Given the description of an element on the screen output the (x, y) to click on. 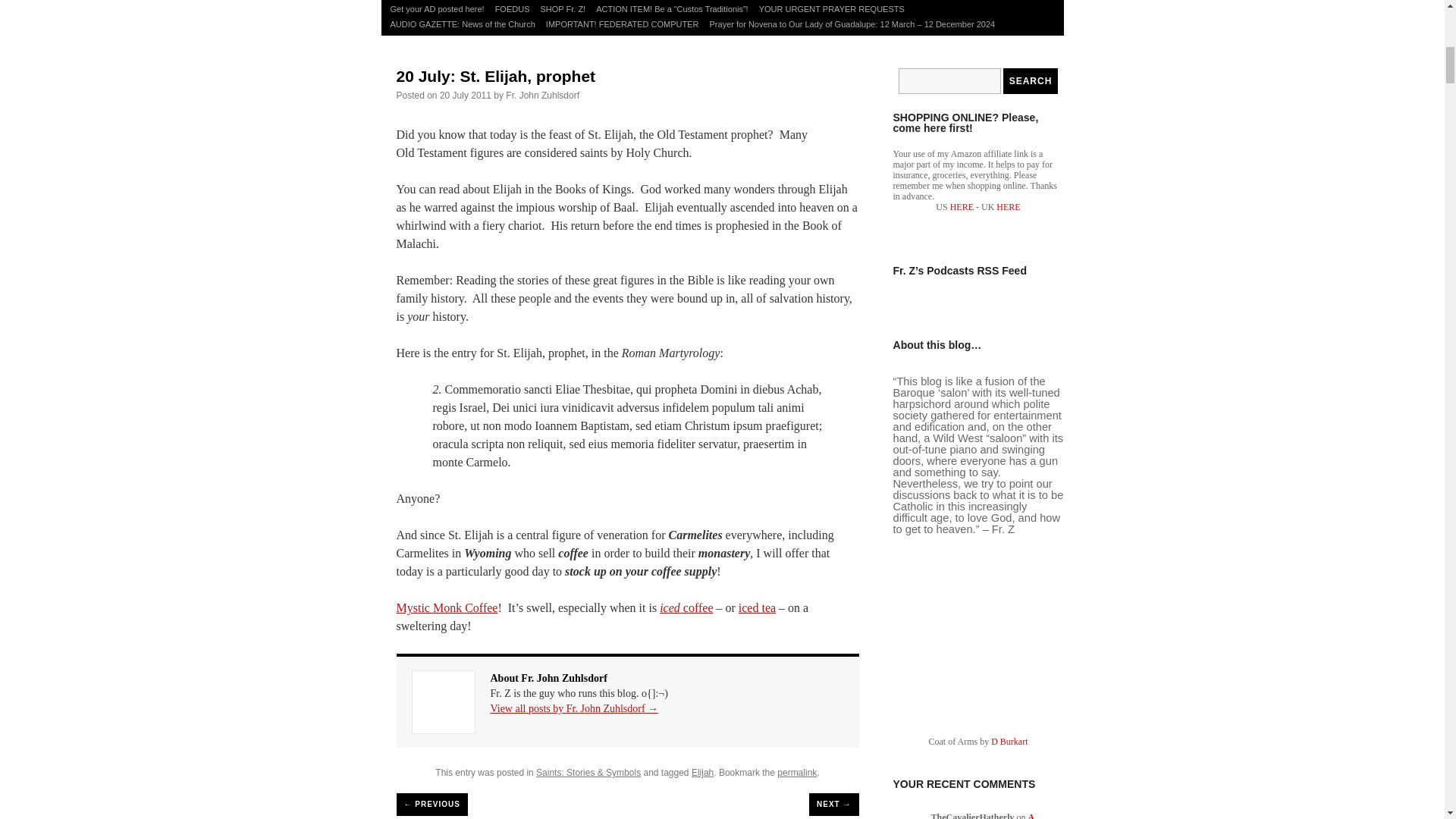
AUDIO GAZETTE: News of the Church (462, 23)
Fr. John Zuhlsdorf (542, 95)
Search (1030, 80)
YOUR URGENT PRAYER REQUESTS (832, 8)
FOEDUS (512, 8)
20 July 2011 (465, 95)
Prayer for Vocations (427, 0)
Wherein Fr Z rants (827, 0)
SHOP Fr. Z! (562, 8)
View all posts by Fr. John Zuhlsdorf (542, 95)
